Given the description of an element on the screen output the (x, y) to click on. 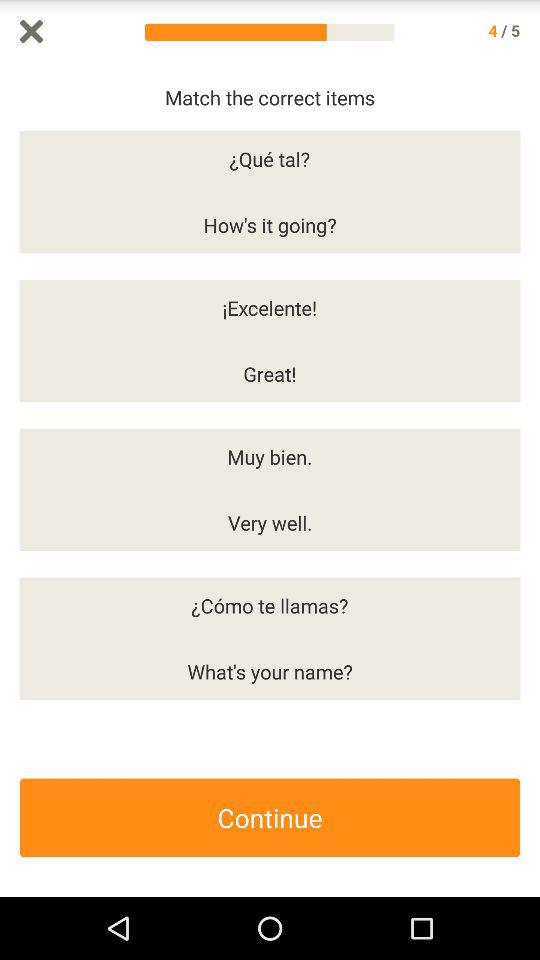
scroll down (530, 480)
